Given the description of an element on the screen output the (x, y) to click on. 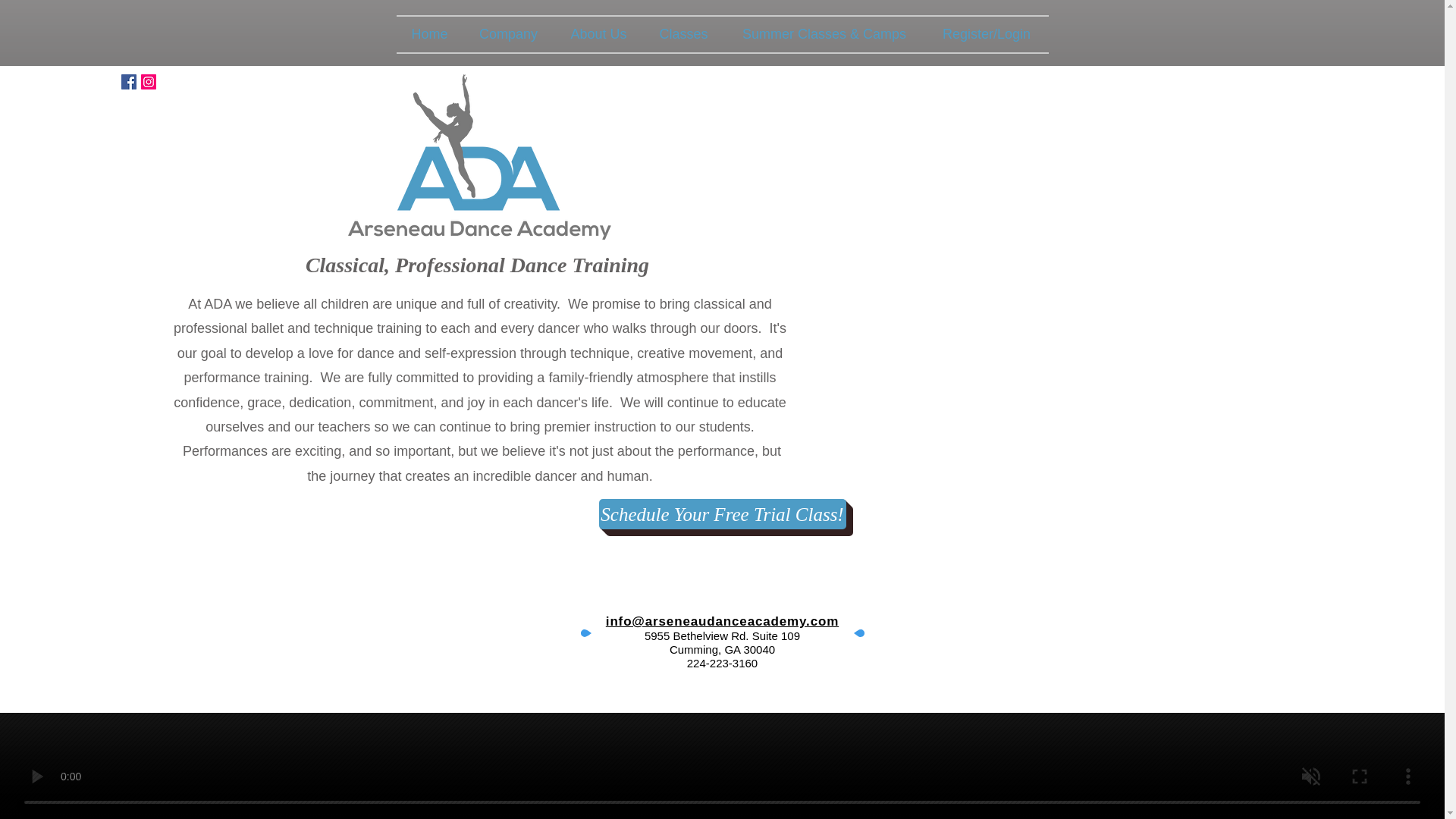
Home (429, 34)
Classes (683, 34)
Schedule Your Free Trial Class! (721, 513)
Company (508, 34)
